Given the description of an element on the screen output the (x, y) to click on. 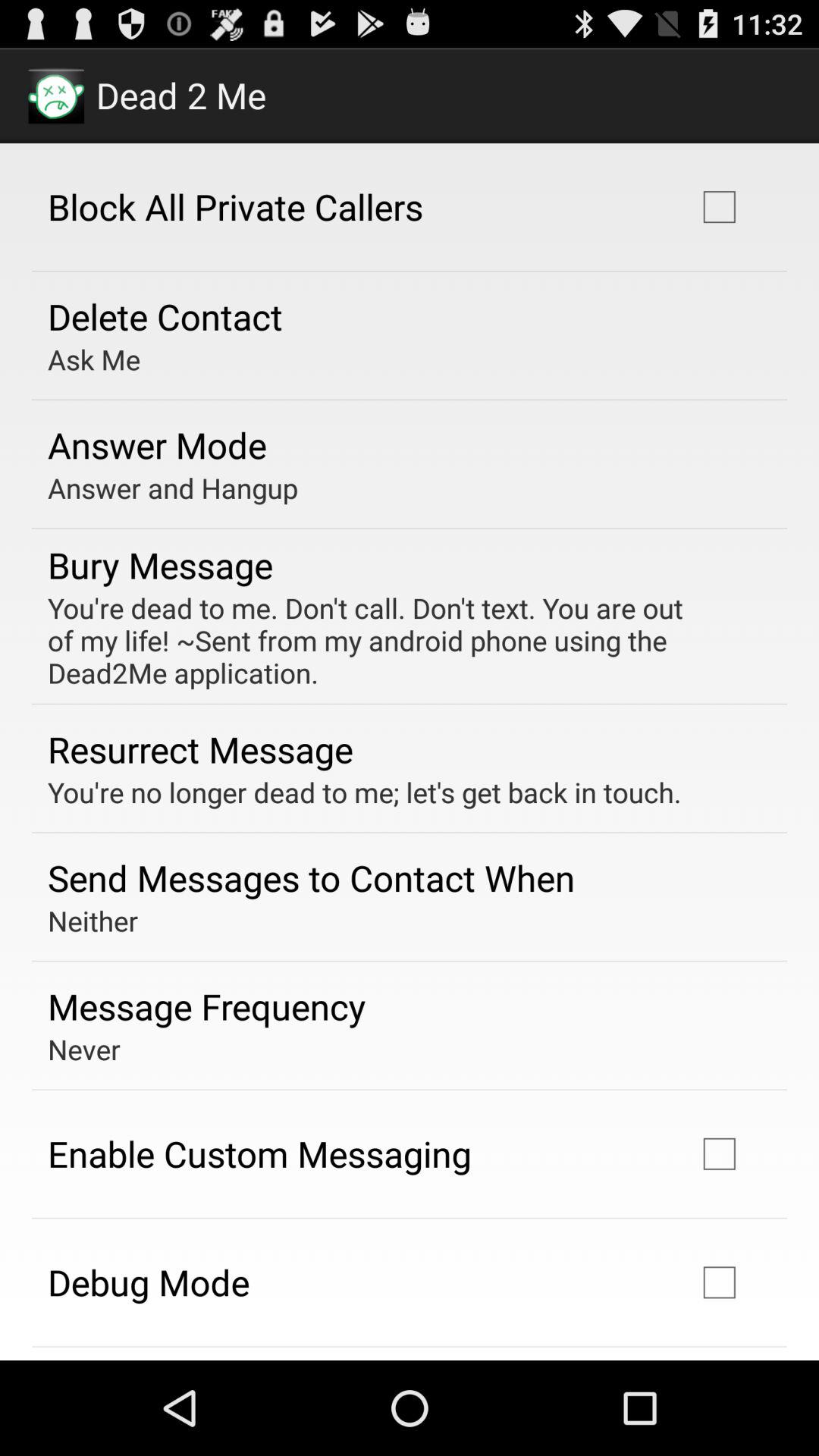
select enable custom messaging icon (259, 1153)
